Given the description of an element on the screen output the (x, y) to click on. 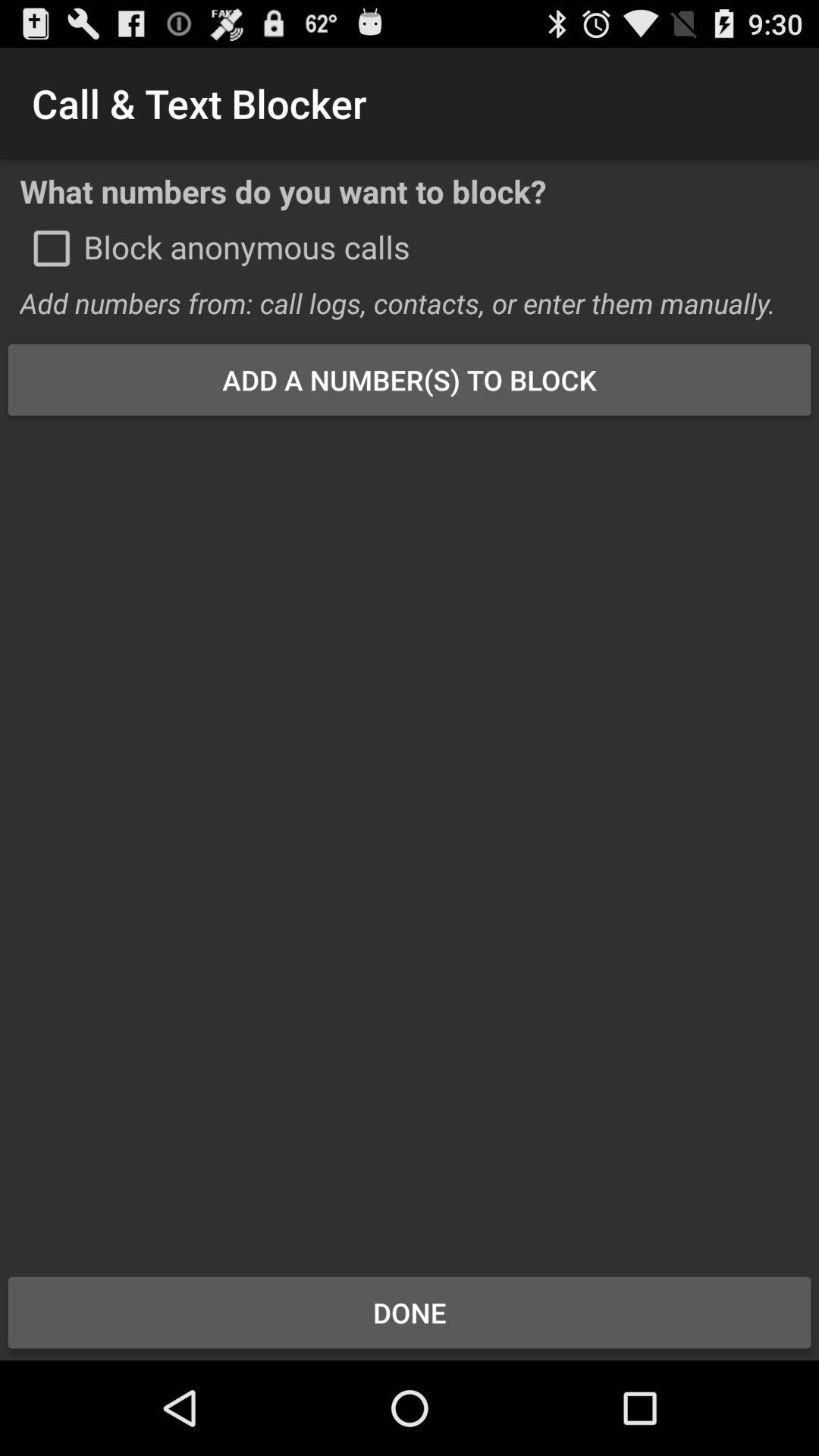
scroll until the add a number item (409, 379)
